Given the description of an element on the screen output the (x, y) to click on. 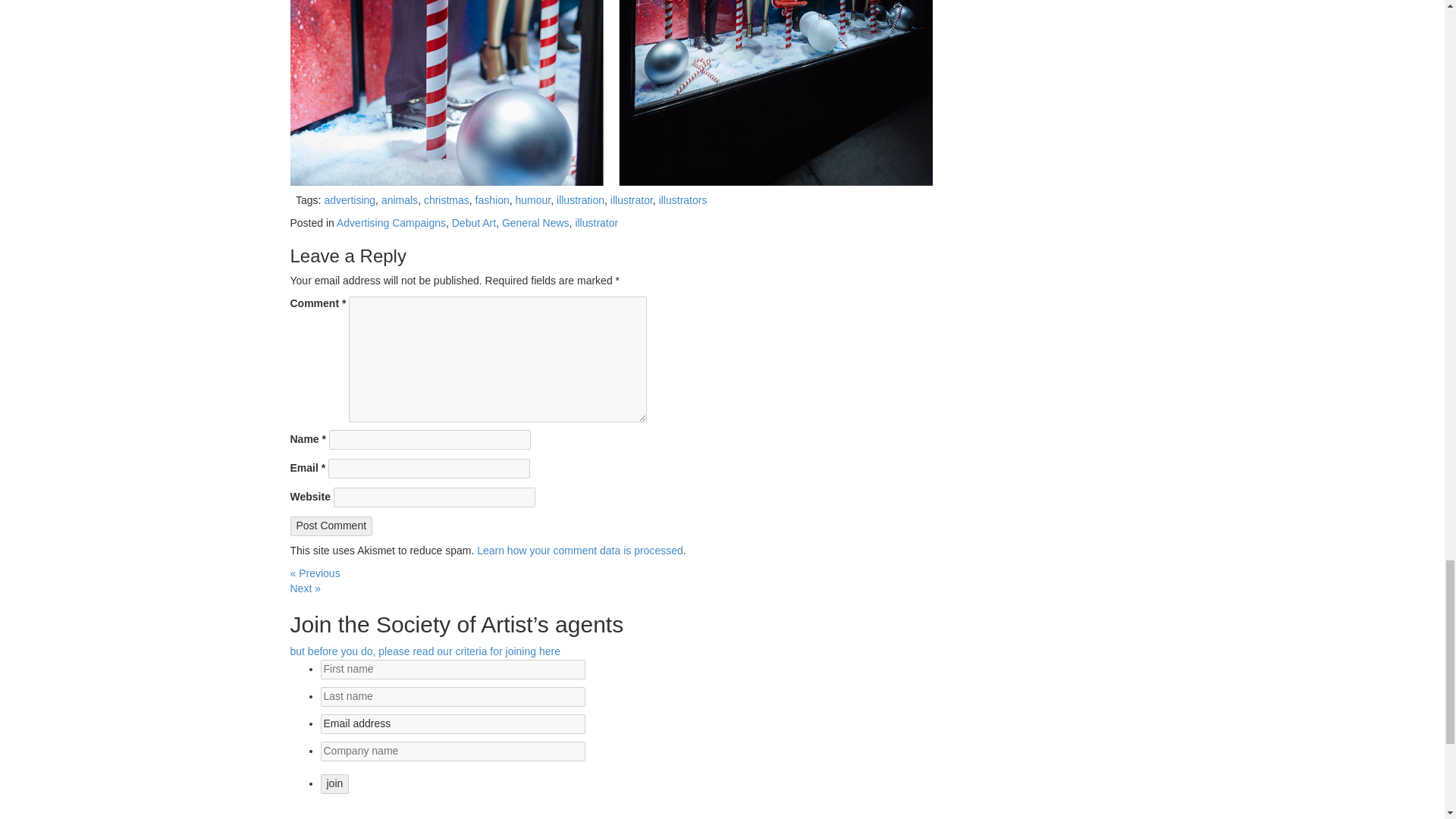
Post Comment (330, 526)
illustrator (631, 200)
illustrator (596, 223)
christmas (445, 200)
join (334, 783)
animals (399, 200)
Advertising Campaigns (390, 223)
Post Comment (330, 526)
illustration (580, 200)
humour (533, 200)
Learn how your comment data is processed (579, 550)
illustrators (683, 200)
advertising (349, 200)
Email address (452, 723)
fashion (492, 200)
